Given the description of an element on the screen output the (x, y) to click on. 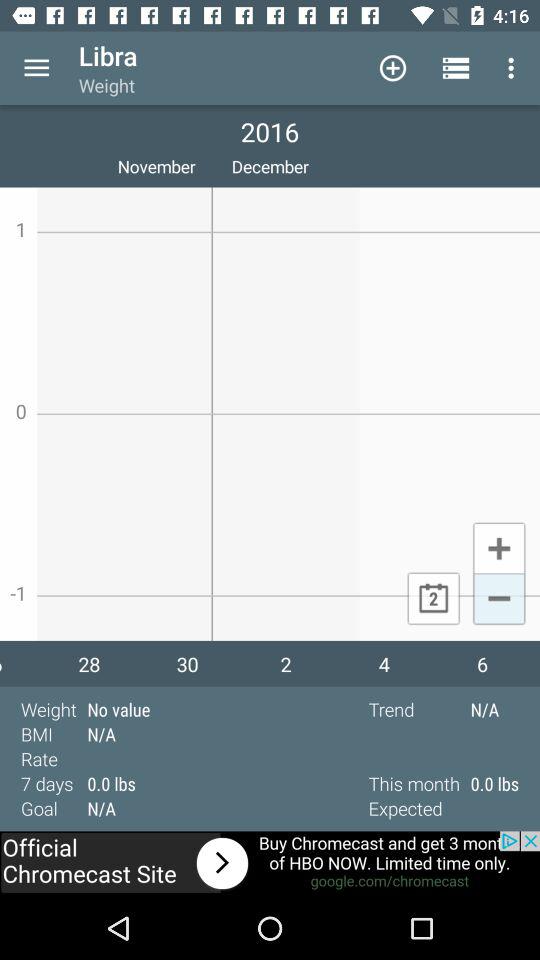
connect to site (270, 864)
